Given the description of an element on the screen output the (x, y) to click on. 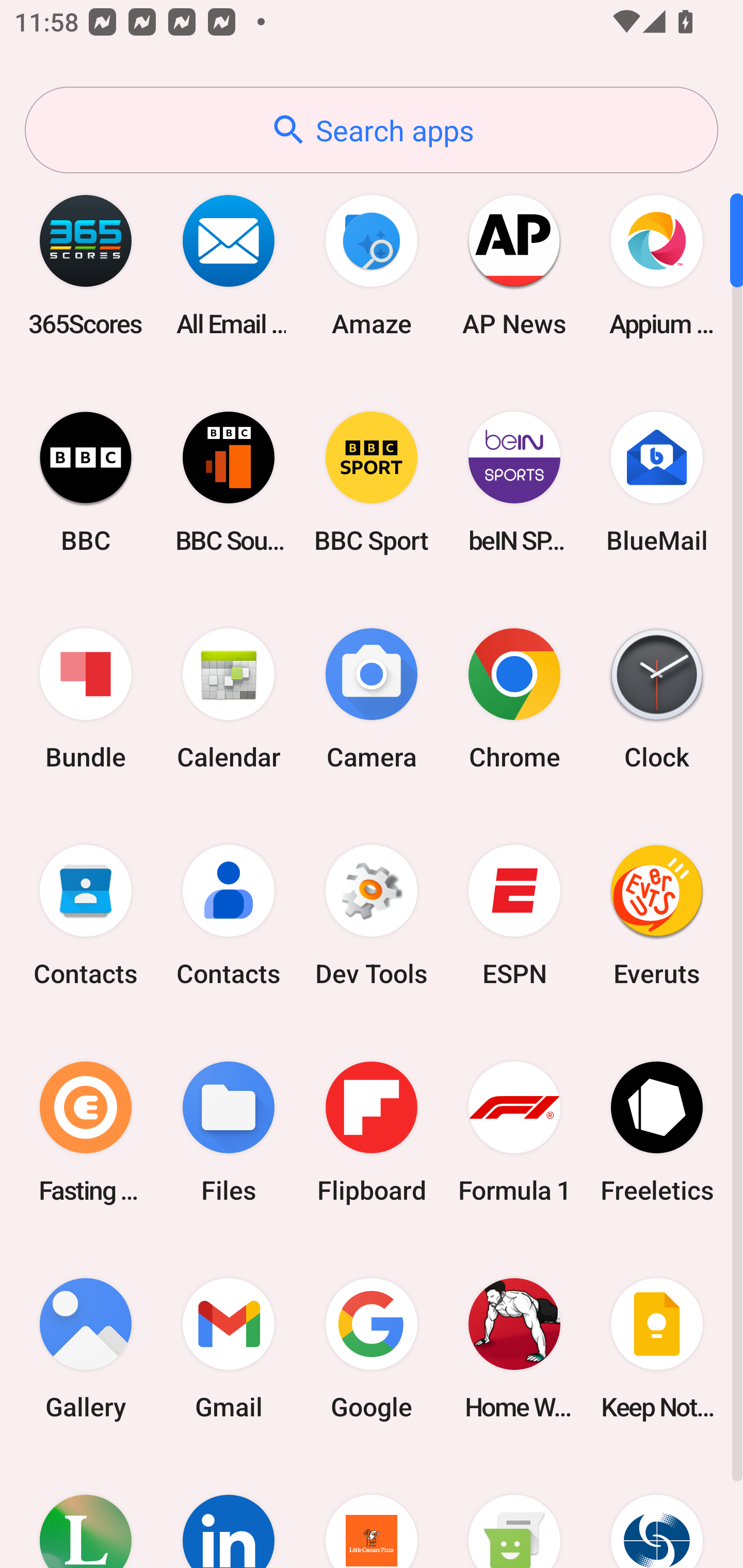
  Search apps (371, 130)
365Scores (85, 264)
All Email Connect (228, 264)
Amaze (371, 264)
AP News (514, 264)
Appium Settings (656, 264)
BBC (85, 482)
BBC Sounds (228, 482)
BBC Sport (371, 482)
beIN SPORTS (514, 482)
BlueMail (656, 482)
Bundle (85, 699)
Calendar (228, 699)
Camera (371, 699)
Chrome (514, 699)
Clock (656, 699)
Contacts (85, 915)
Contacts (228, 915)
Dev Tools (371, 915)
ESPN (514, 915)
Everuts (656, 915)
Fasting Coach (85, 1131)
Files (228, 1131)
Flipboard (371, 1131)
Formula 1 (514, 1131)
Freeletics (656, 1131)
Gallery (85, 1348)
Gmail (228, 1348)
Google (371, 1348)
Home Workout (514, 1348)
Keep Notes (656, 1348)
Lifesum (85, 1512)
LinkedIn (228, 1512)
Little Caesars Pizza (371, 1512)
Messaging (514, 1512)
MyObservatory (656, 1512)
